Given the description of an element on the screen output the (x, y) to click on. 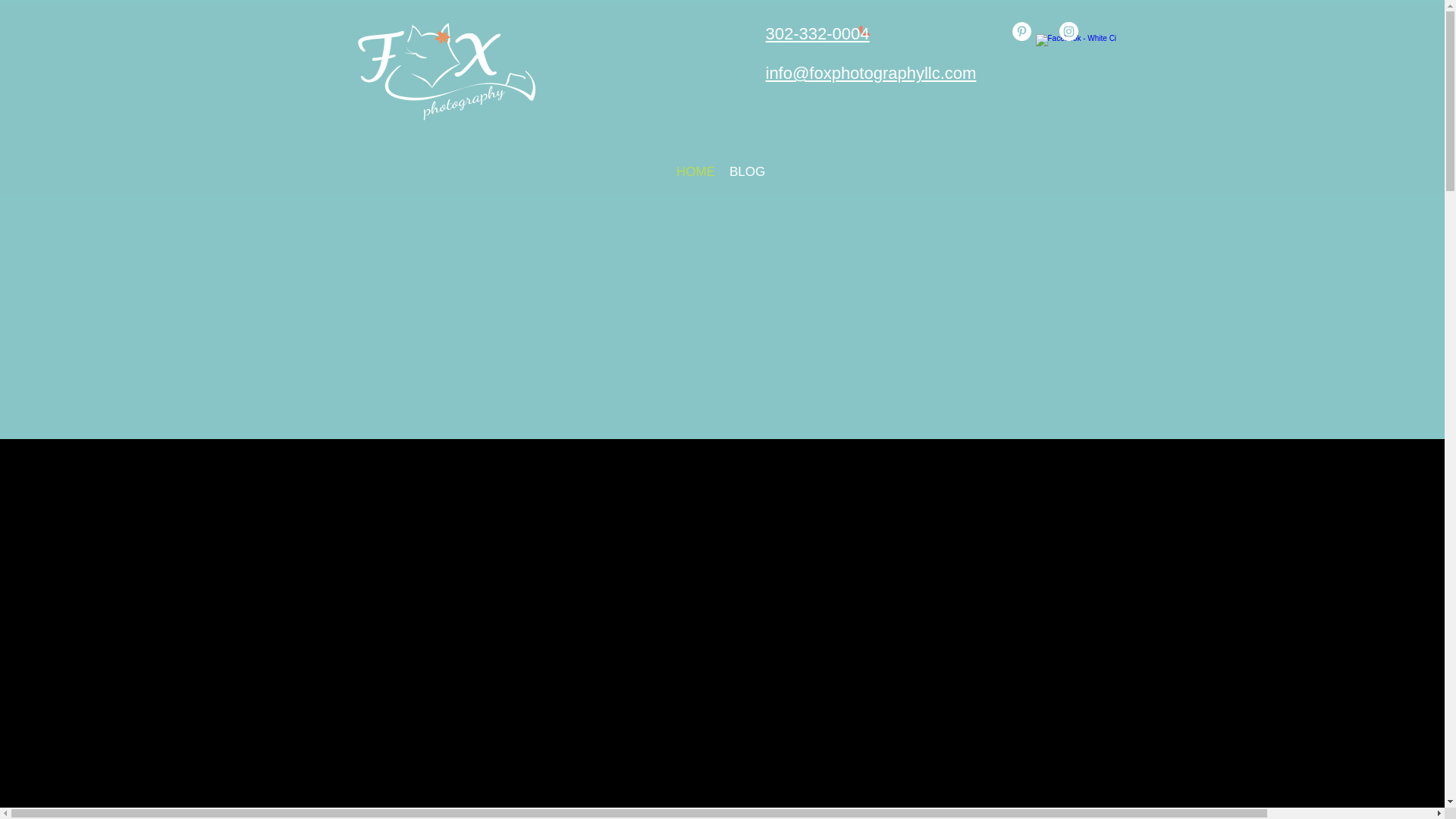
HOME (694, 171)
302-332-0004 (817, 33)
BLOG (746, 171)
